Given the description of an element on the screen output the (x, y) to click on. 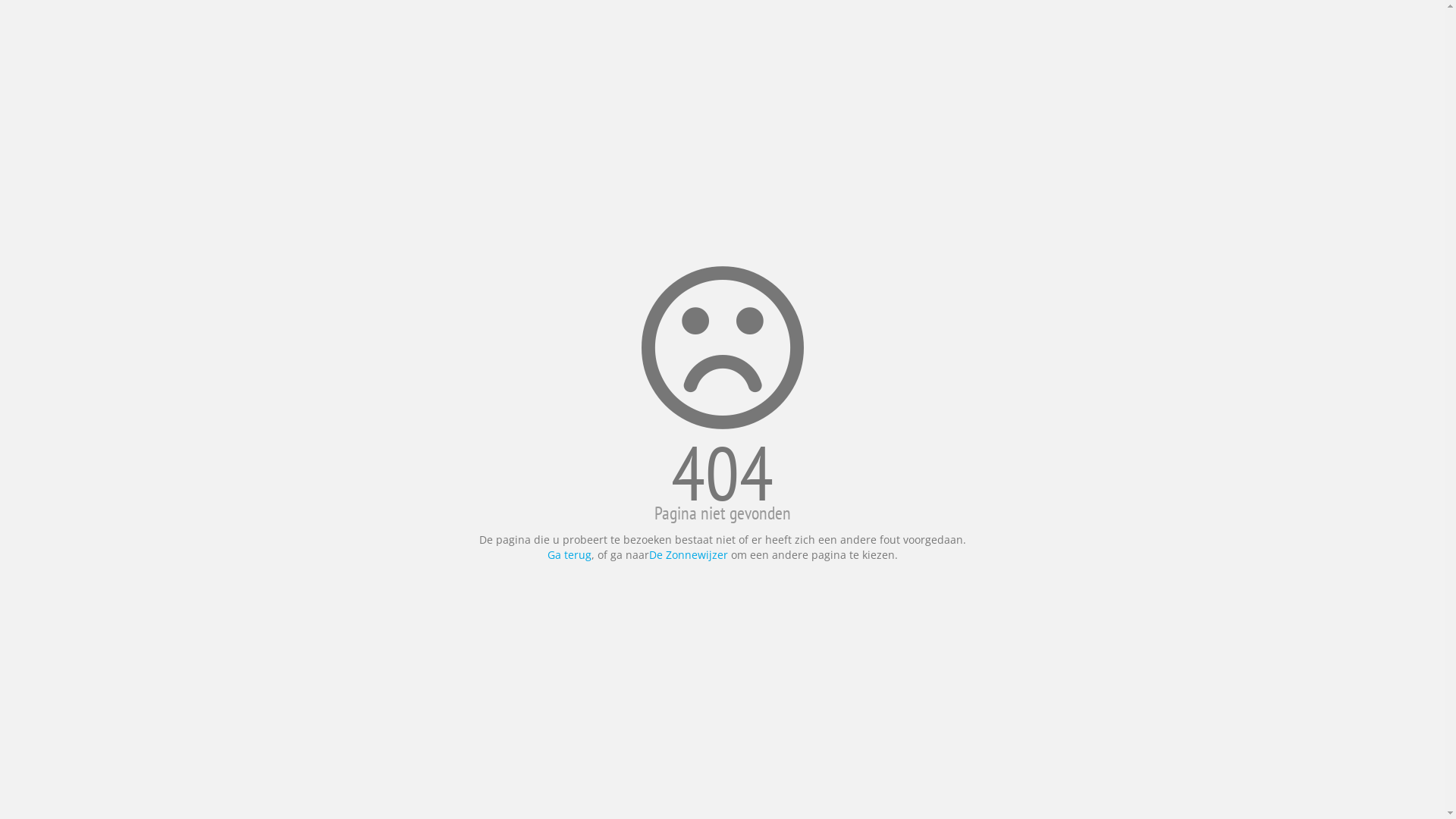
Ga terug Element type: text (569, 554)
De Zonnewijzer Element type: text (690, 554)
